Given the description of an element on the screen output the (x, y) to click on. 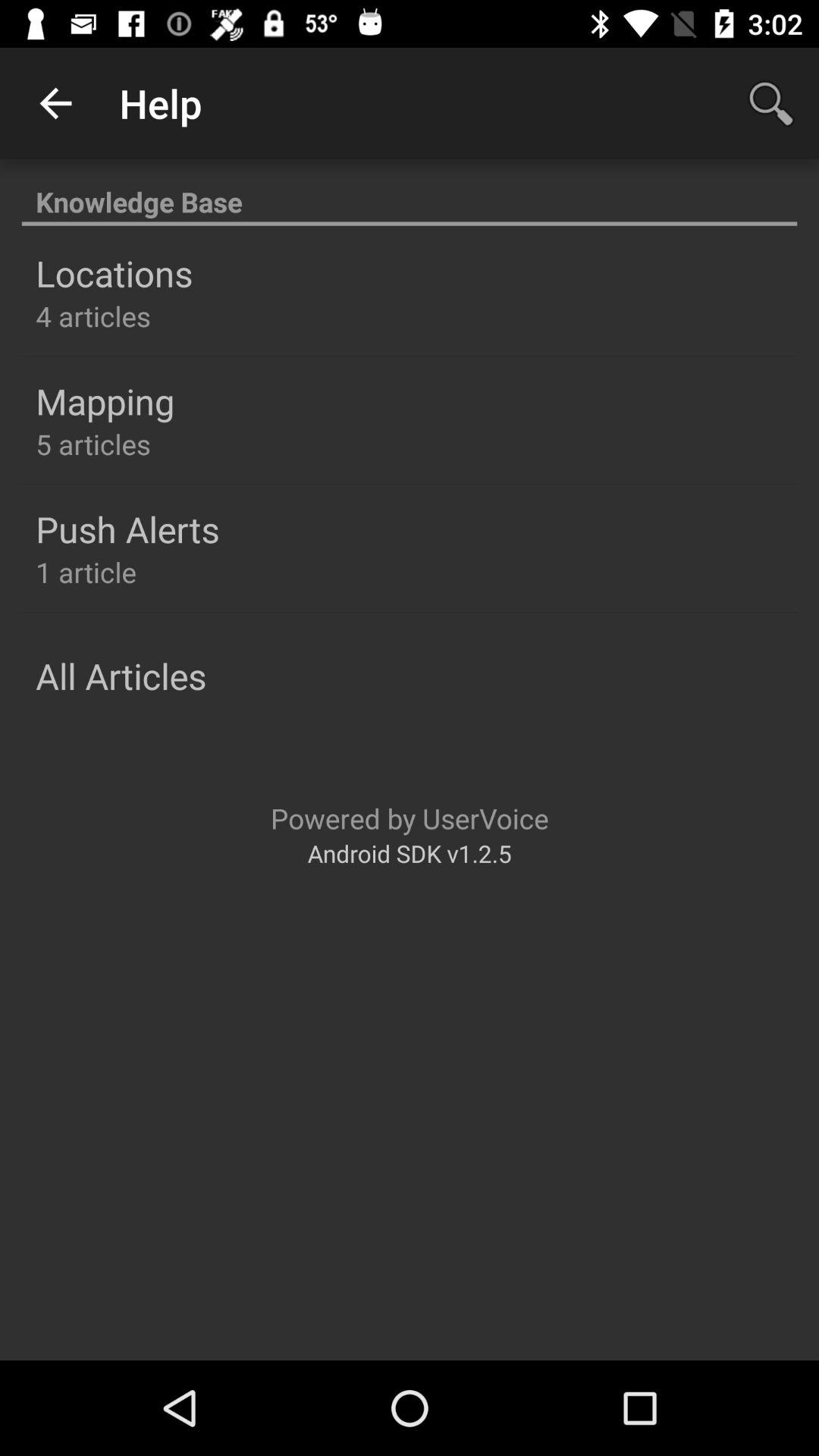
tap icon above 1 article item (127, 529)
